Given the description of an element on the screen output the (x, y) to click on. 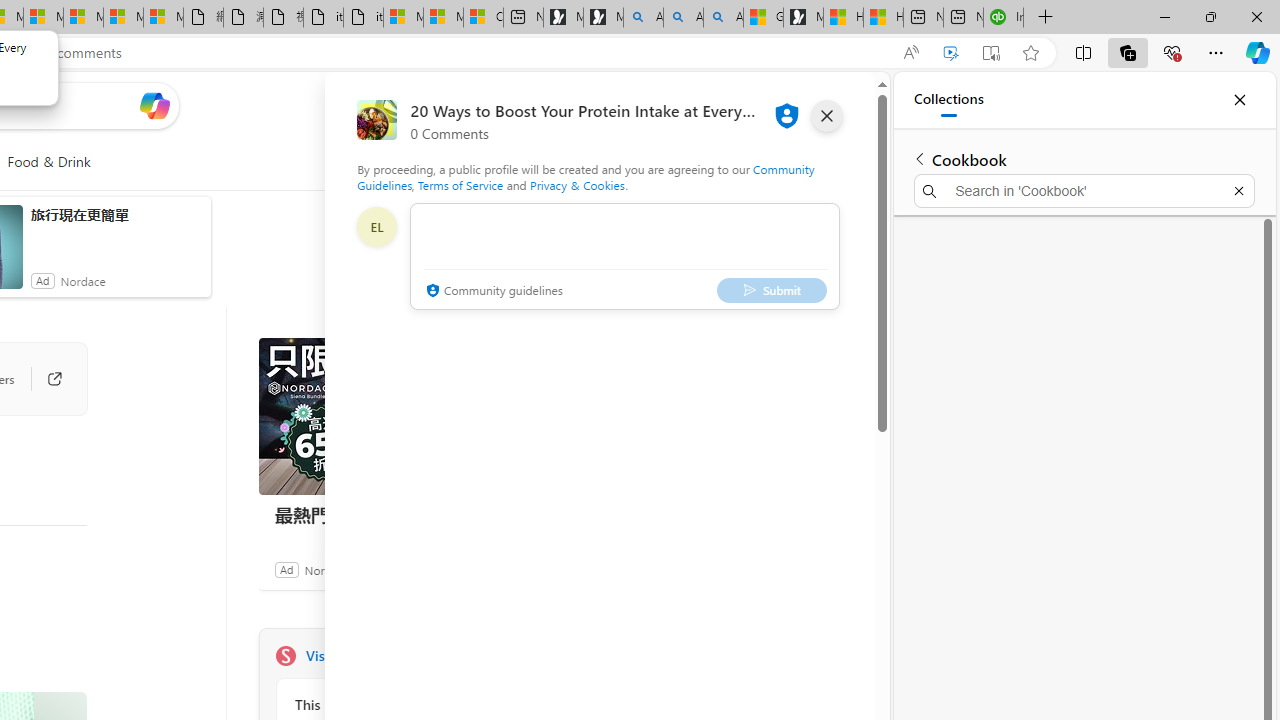
Ad (286, 569)
Personalize (511, 162)
Shape (285, 655)
Search in 'Cookbook' (1084, 190)
To get missing image descriptions, open the context menu. (471, 162)
Alabama high school quarterback dies - Search Videos (723, 17)
Food & Drink (48, 162)
How to Use a TV as a Computer Monitor (883, 17)
